Given the description of an element on the screen output the (x, y) to click on. 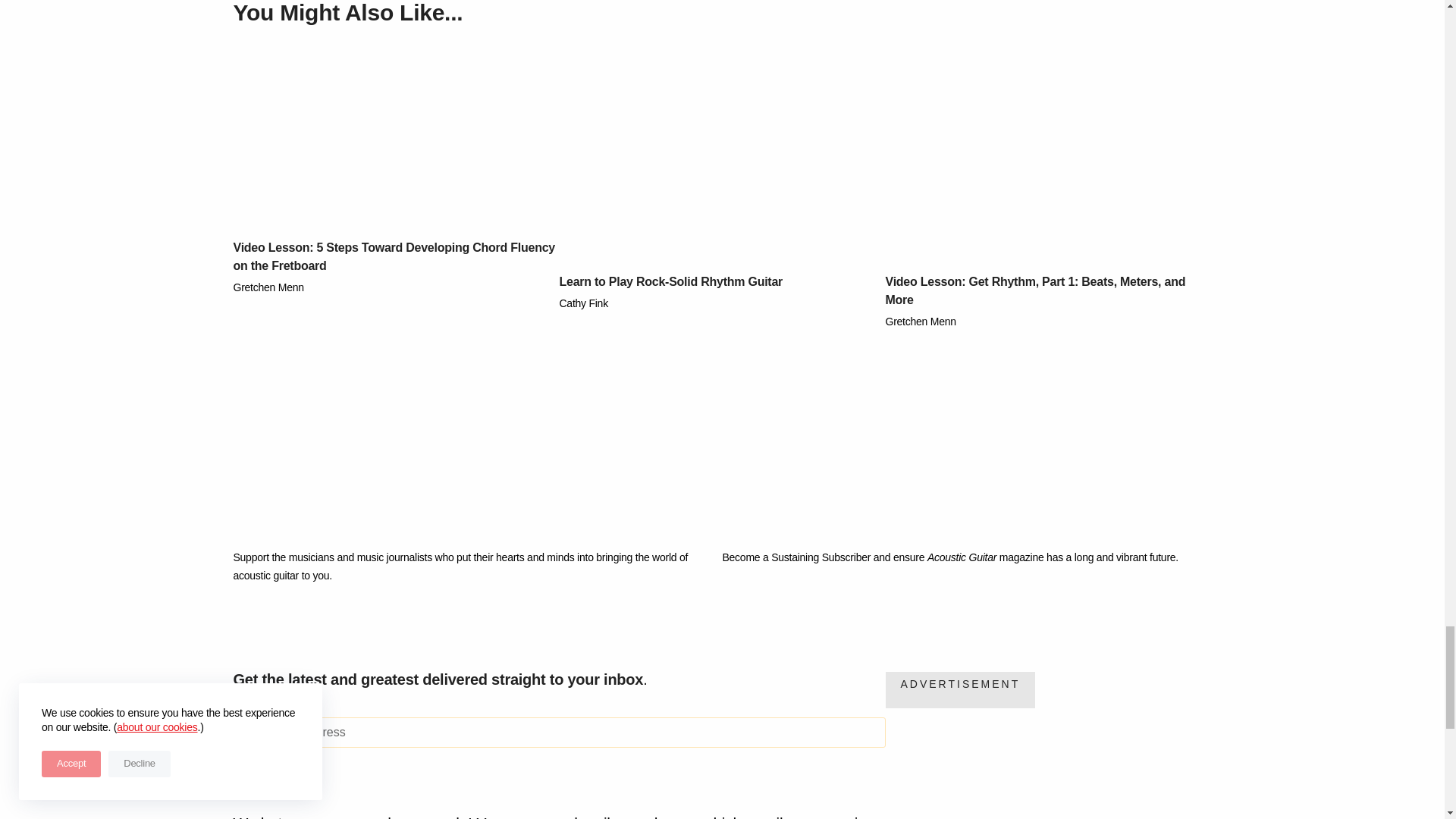
your email address (558, 732)
Posts by Gretchen Menn (920, 321)
Posts by Gretchen Menn (268, 287)
Posts by Cathy Fink (583, 303)
